Given the description of an element on the screen output the (x, y) to click on. 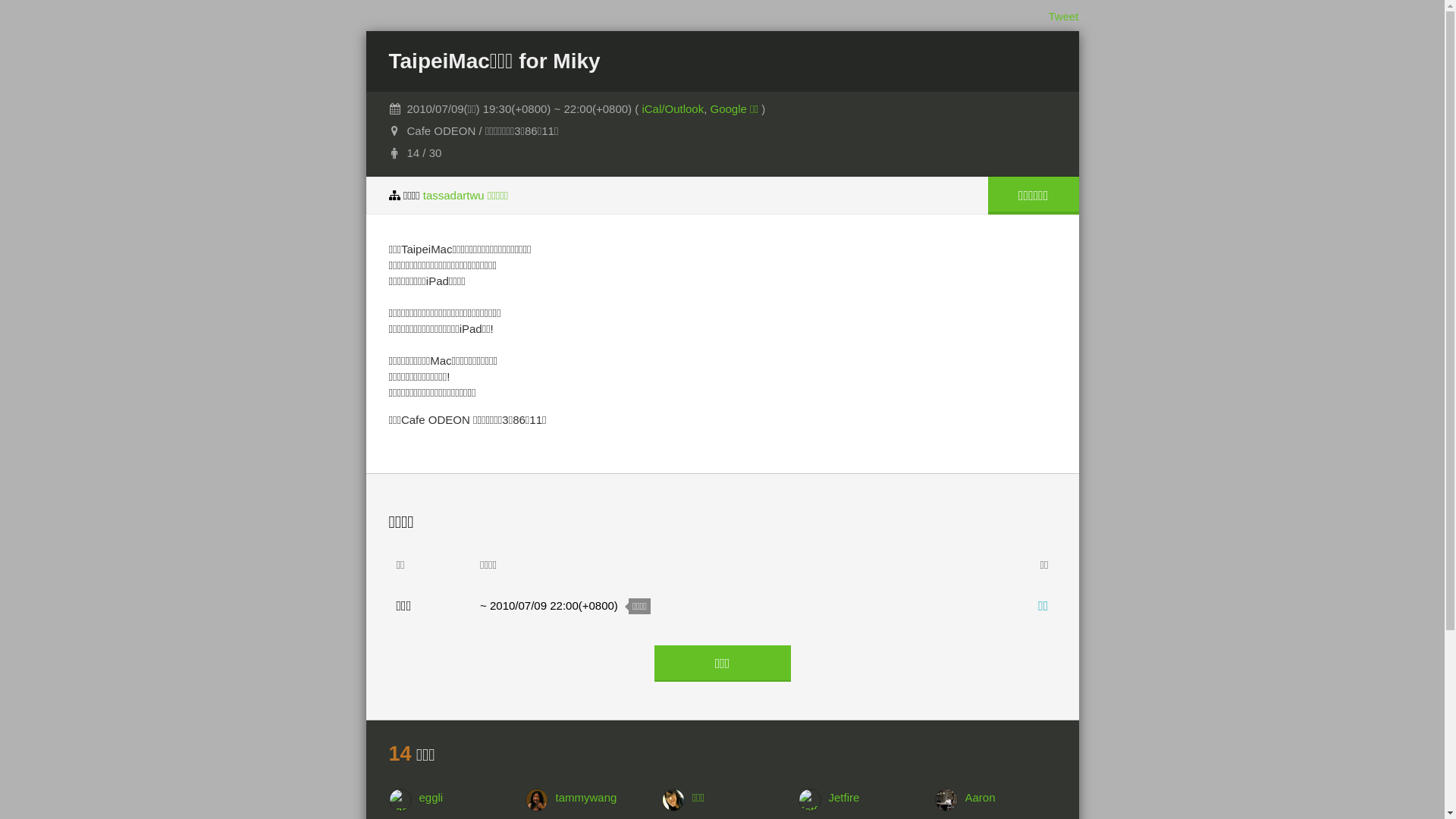
iCal/Outlook Element type: text (672, 108)
Tweet Element type: text (1063, 15)
Aaron Element type: text (1009, 797)
eggli Element type: text (463, 797)
tammywang Element type: text (600, 797)
Jetfire Element type: text (873, 797)
